Given the description of an element on the screen output the (x, y) to click on. 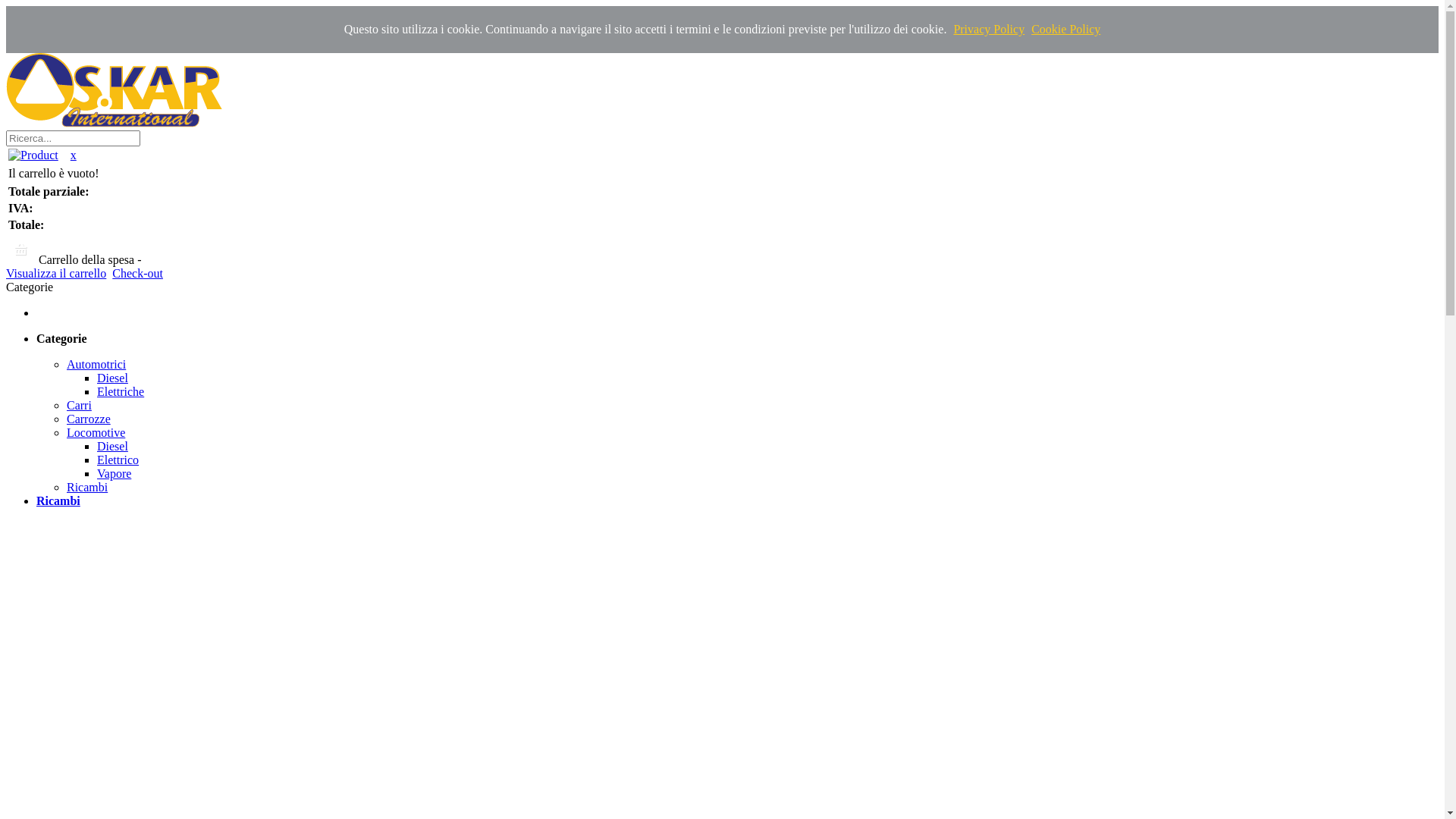
Diesel Element type: text (112, 445)
Elettrico Element type: text (117, 459)
x Element type: text (73, 154)
Elettriche Element type: text (120, 391)
Product Element type: hover (33, 155)
Carri Element type: text (78, 404)
Cookie Policy Element type: text (1065, 28)
Diesel Element type: text (112, 377)
Vapore Element type: text (114, 473)
Ricambi Element type: text (58, 500)
Check-out Element type: text (137, 272)
Carrozze Element type: text (88, 418)
Privacy Policy Element type: text (988, 28)
Ricambi Element type: text (86, 486)
Locomotive Element type: text (95, 432)
Your Store Element type: hover (114, 90)
Categorie Element type: text (61, 338)
Visualizza il carrello Element type: text (56, 272)
Automotrici Element type: text (95, 363)
